Given the description of an element on the screen output the (x, y) to click on. 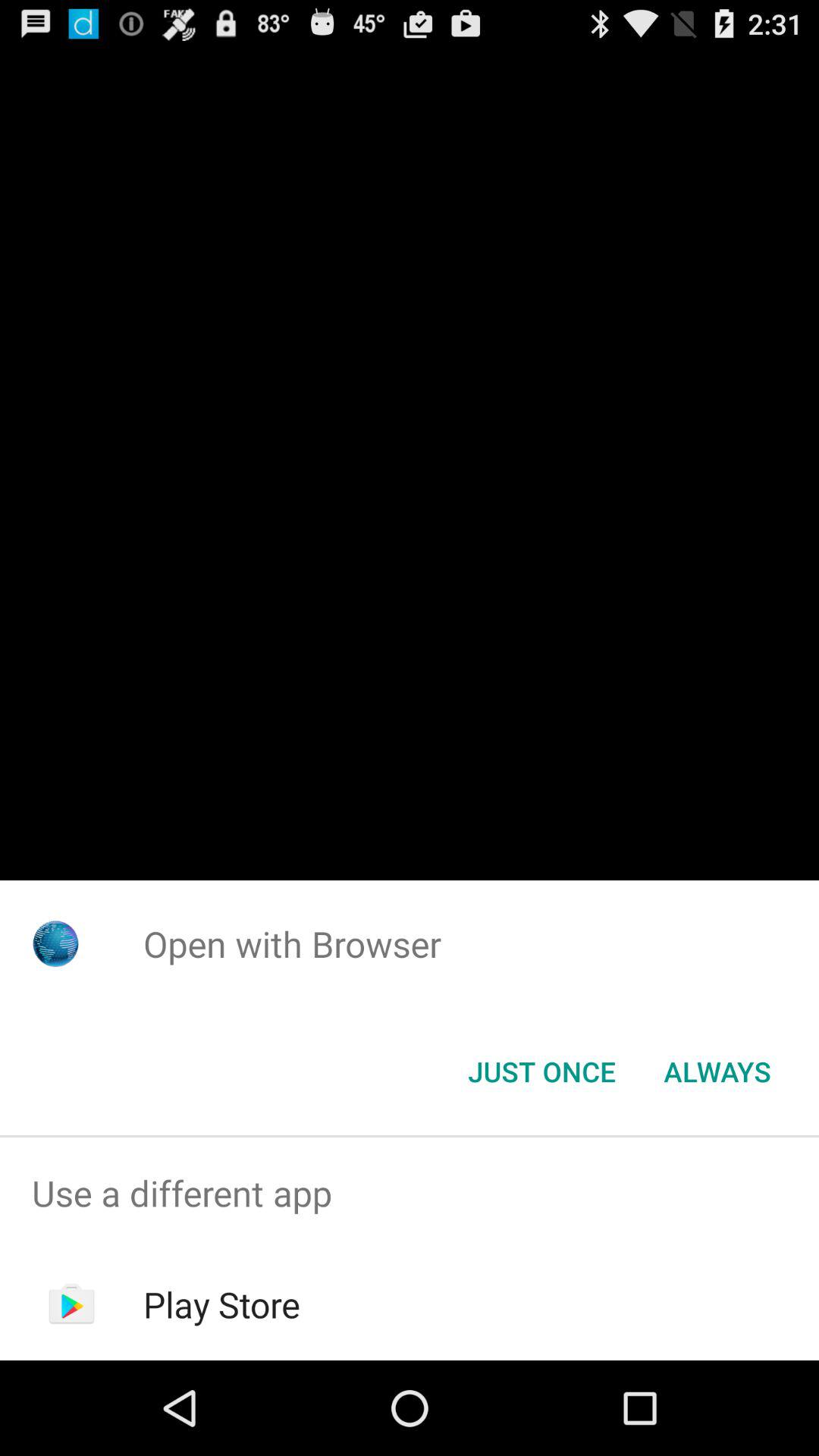
turn on item next to just once item (717, 1071)
